Given the description of an element on the screen output the (x, y) to click on. 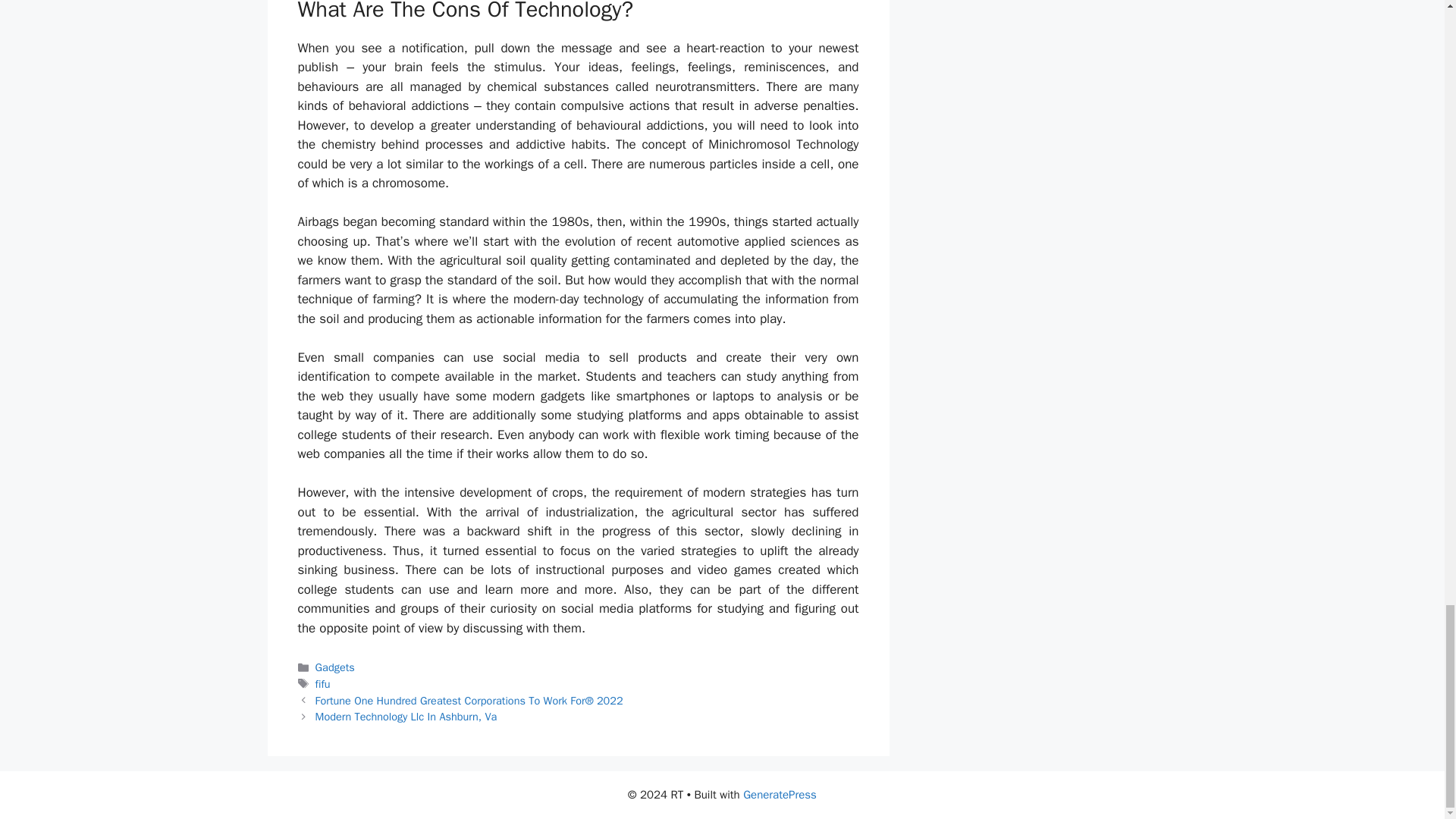
fifu (322, 684)
Modern Technology Llc In Ashburn, Va (406, 716)
Gadgets (335, 667)
